Given the description of an element on the screen output the (x, y) to click on. 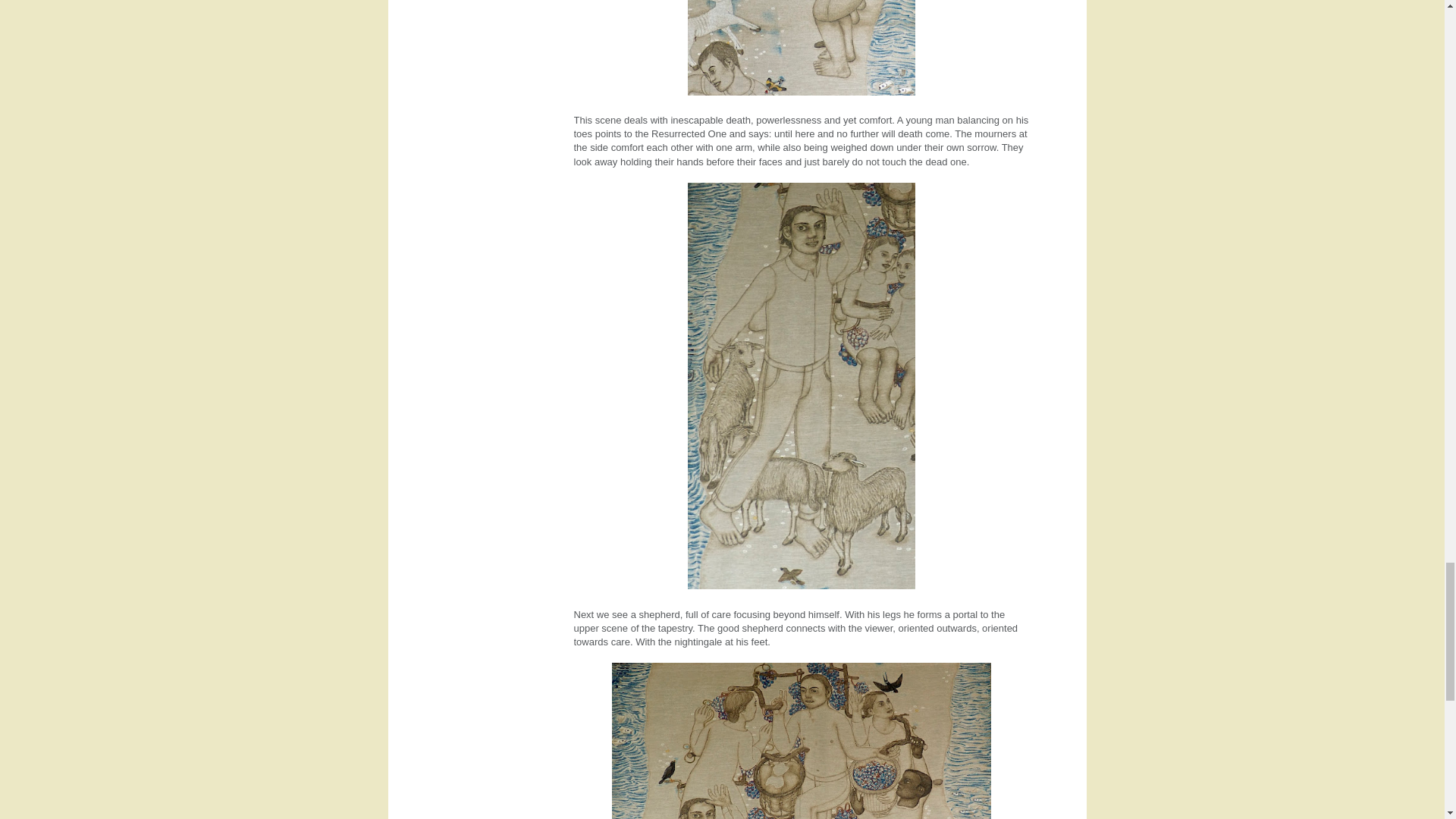
Click on image to view the original size (800, 50)
Click on image to view the original size (800, 740)
